Given the description of an element on the screen output the (x, y) to click on. 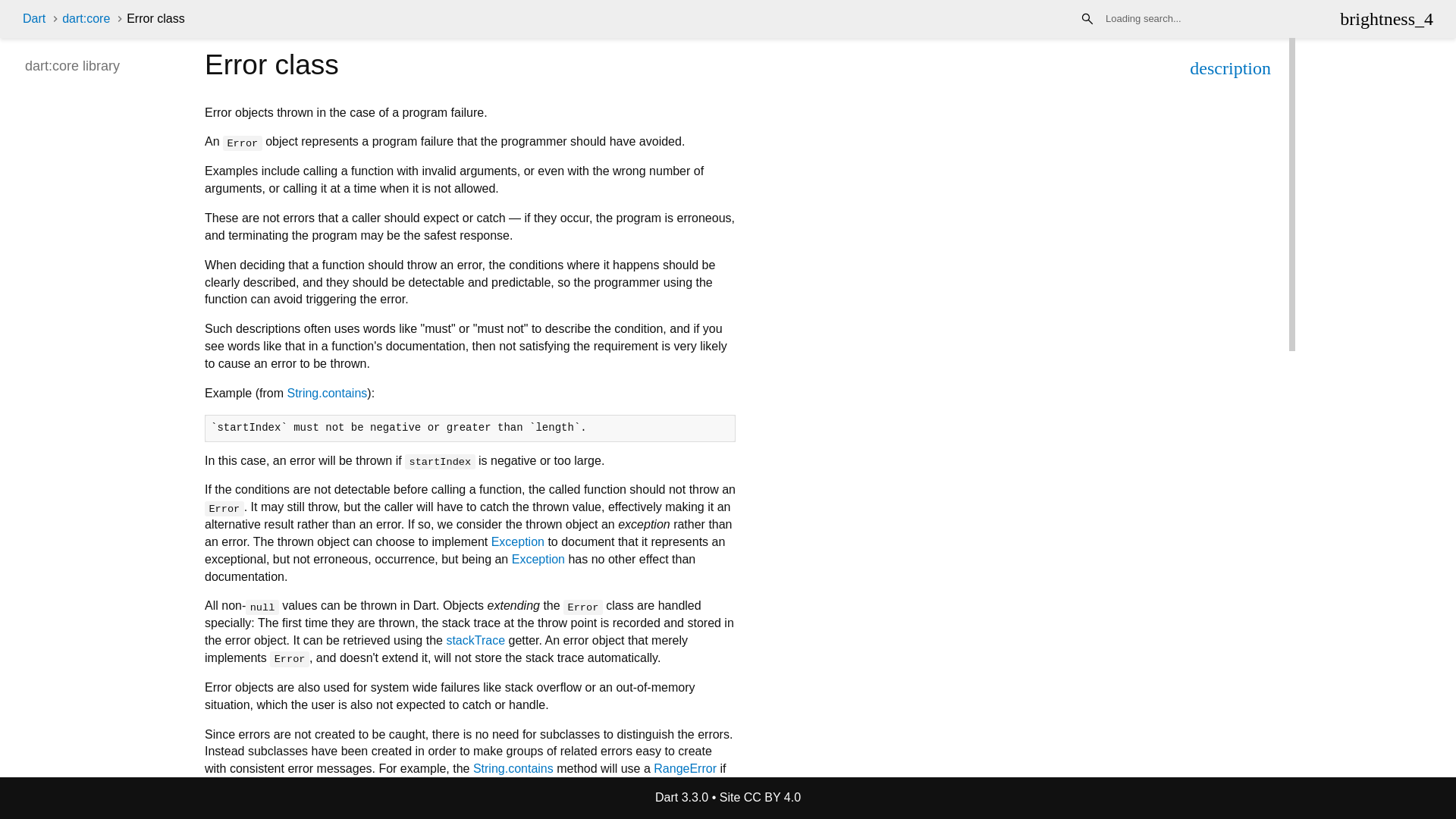
stackTrace (475, 640)
Dart (34, 18)
dart:core (86, 18)
View source code (1230, 69)
Error (647, 802)
String.contains (326, 392)
String.contains (513, 768)
Exception (538, 558)
Exception (518, 541)
RangeError (684, 768)
